Given the description of an element on the screen output the (x, y) to click on. 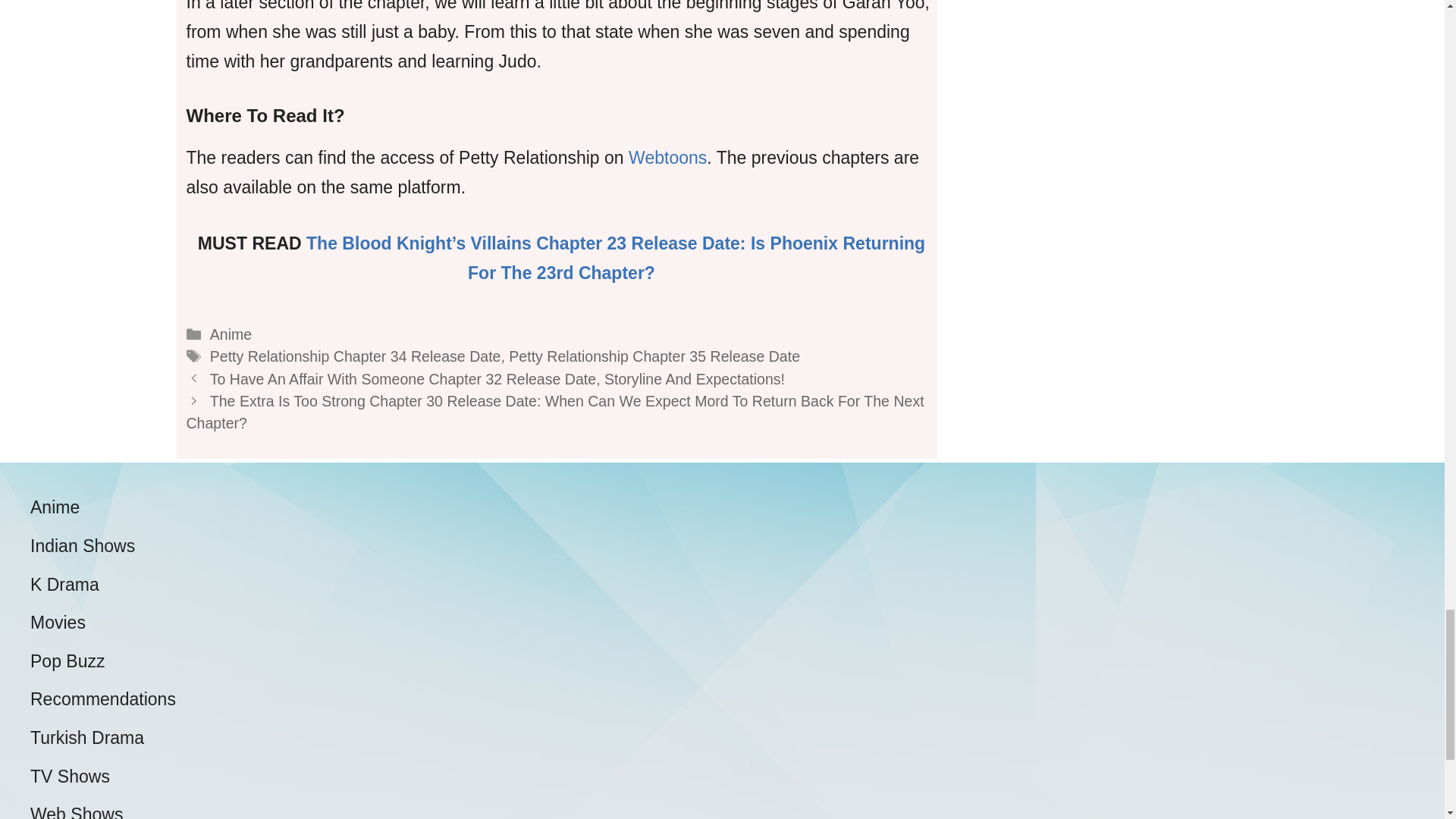
Webtoons (667, 157)
Anime (230, 334)
Petty Relationship Chapter 35 Release Date (653, 356)
Petty Relationship Chapter 34 Release Date (354, 356)
